Given the description of an element on the screen output the (x, y) to click on. 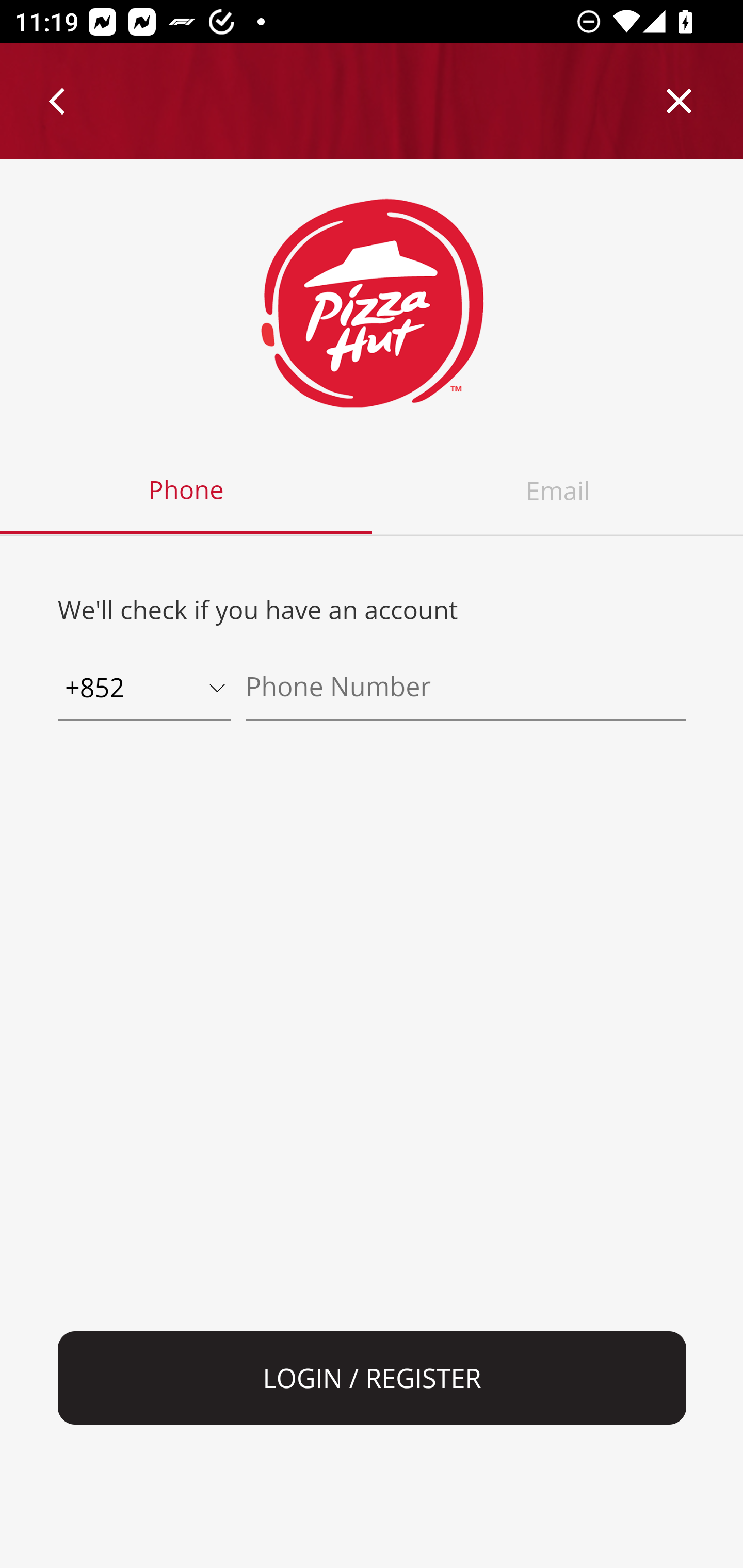
menu (58, 100)
close (679, 100)
Phone (186, 491)
Email (557, 491)
+852 (144, 688)
LOGIN / REGISTER (372, 1377)
